Given the description of an element on the screen output the (x, y) to click on. 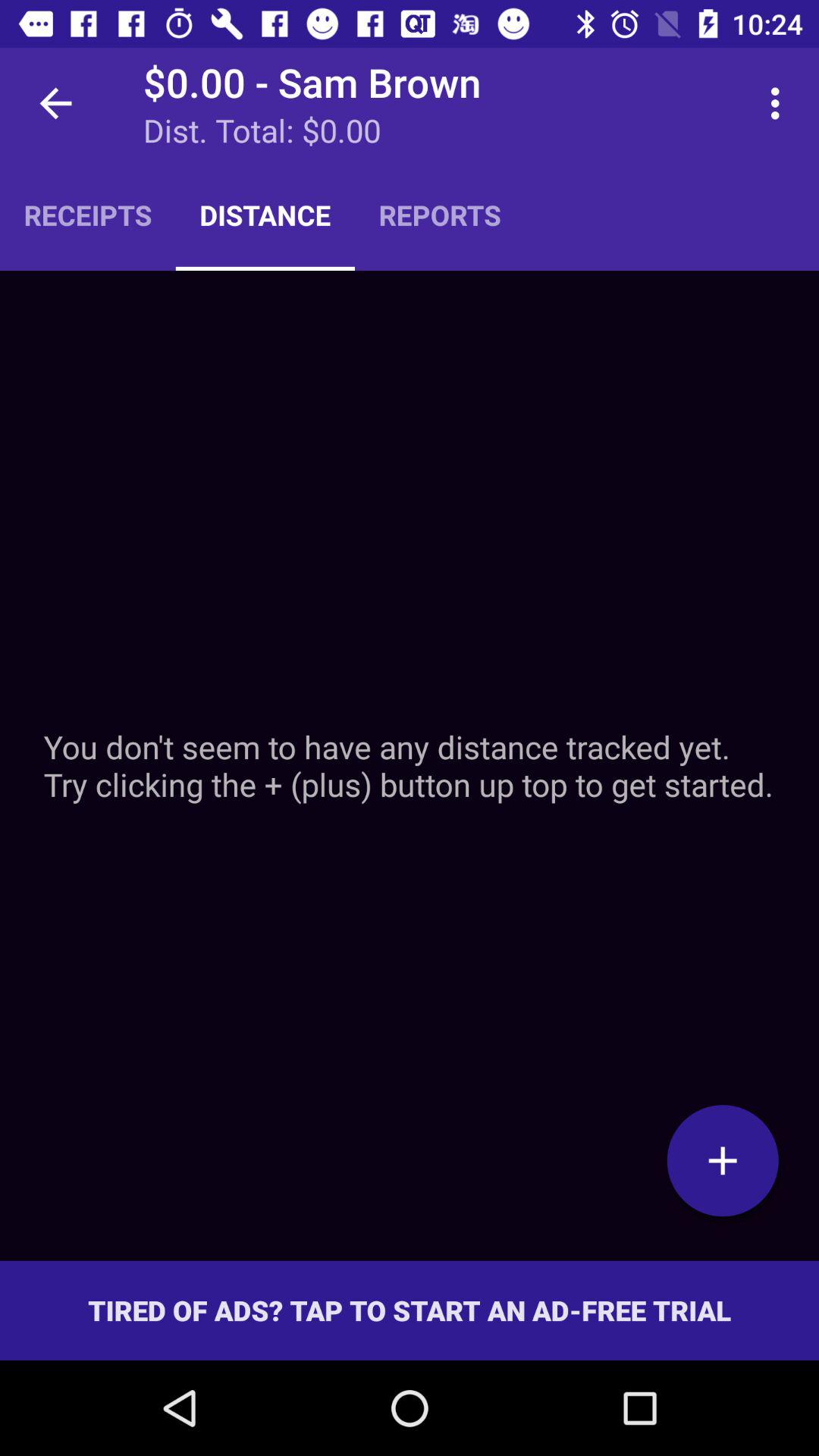
click to get stated (722, 1160)
